Given the description of an element on the screen output the (x, y) to click on. 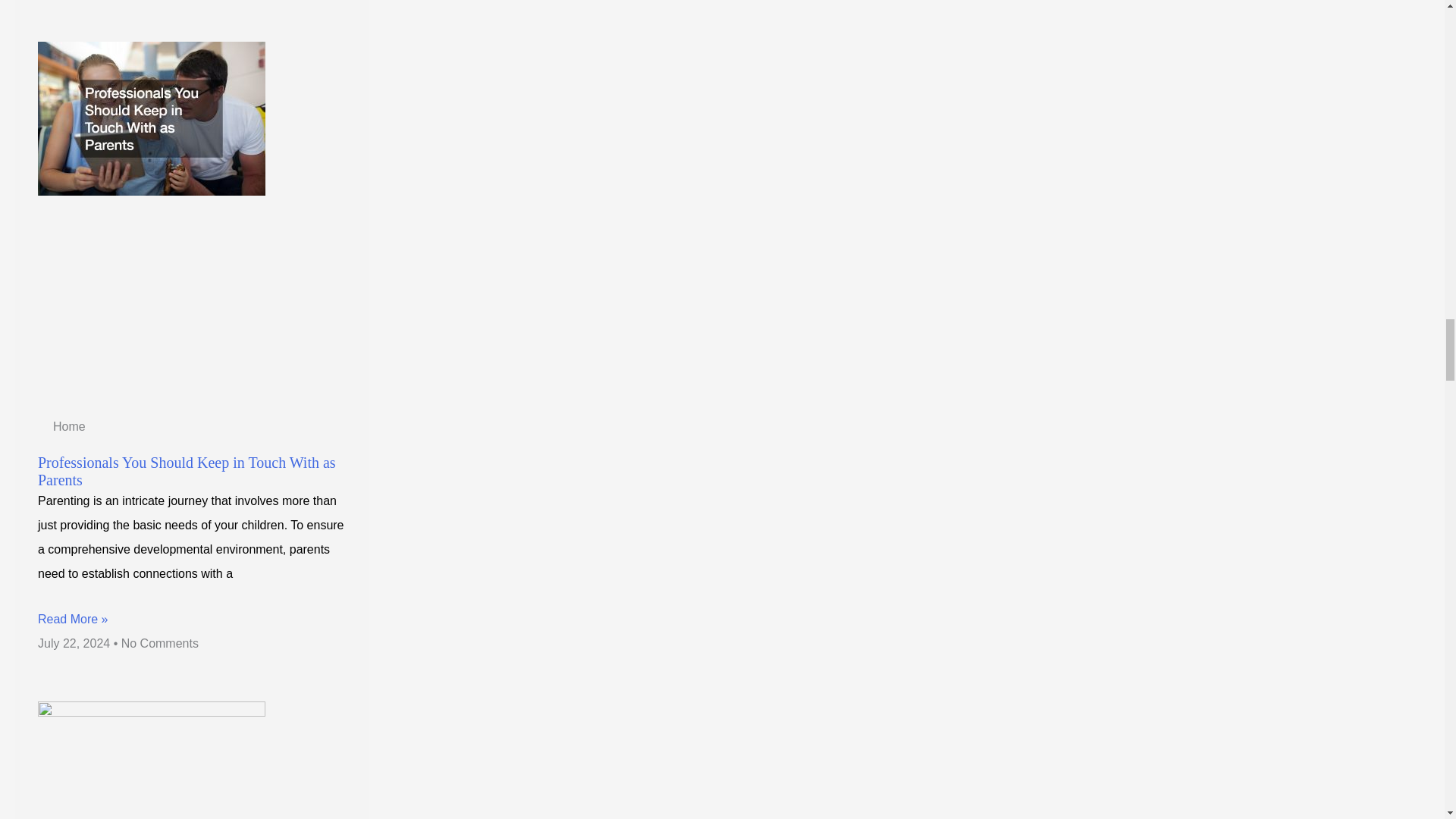
Professionals You Should Keep in Touch With as Parents (186, 471)
